Given the description of an element on the screen output the (x, y) to click on. 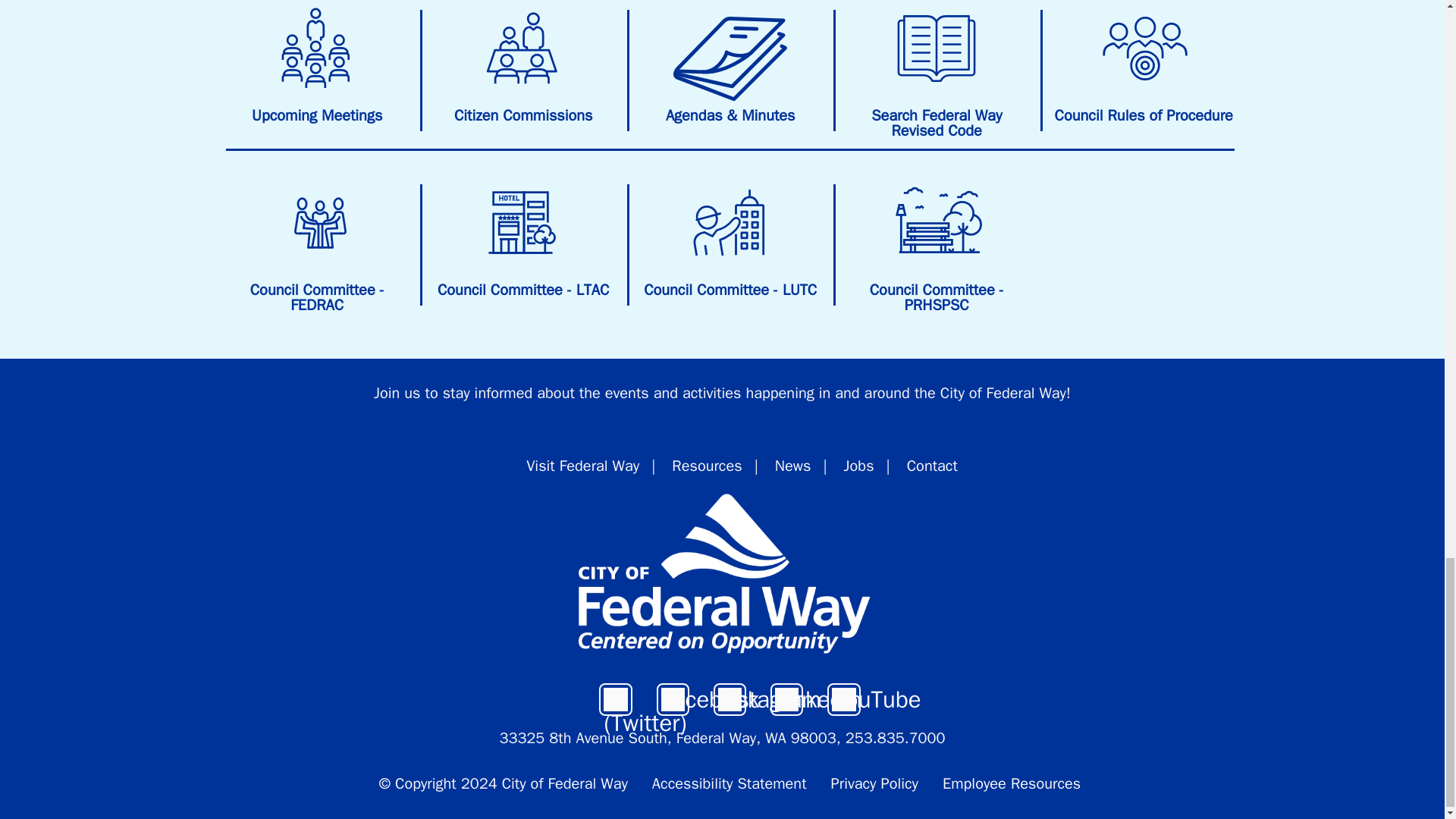
Website Privacy Policy (874, 783)
Website Accessibility Statement (729, 783)
E-Newsletter Sign-up (397, 393)
